Given the description of an element on the screen output the (x, y) to click on. 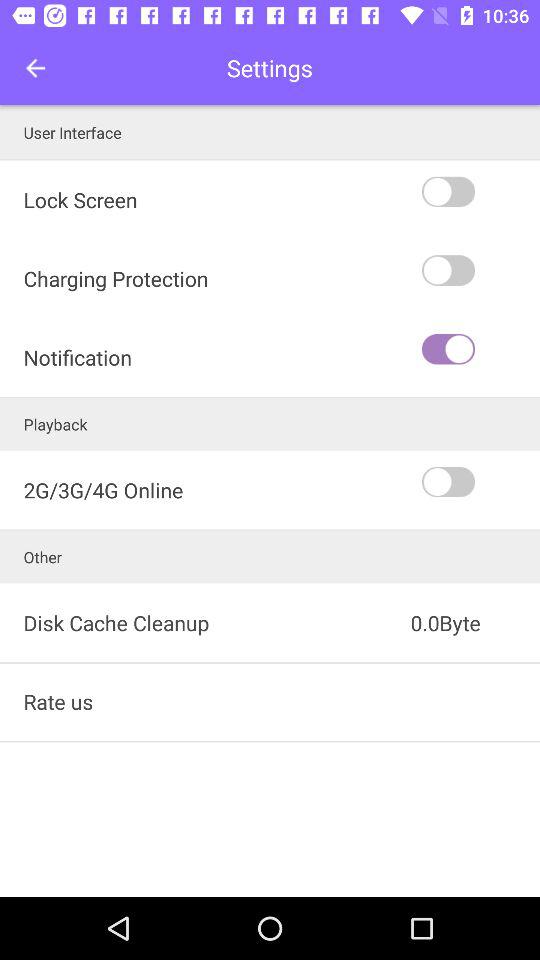
choose the item next to the settings (35, 68)
